Given the description of an element on the screen output the (x, y) to click on. 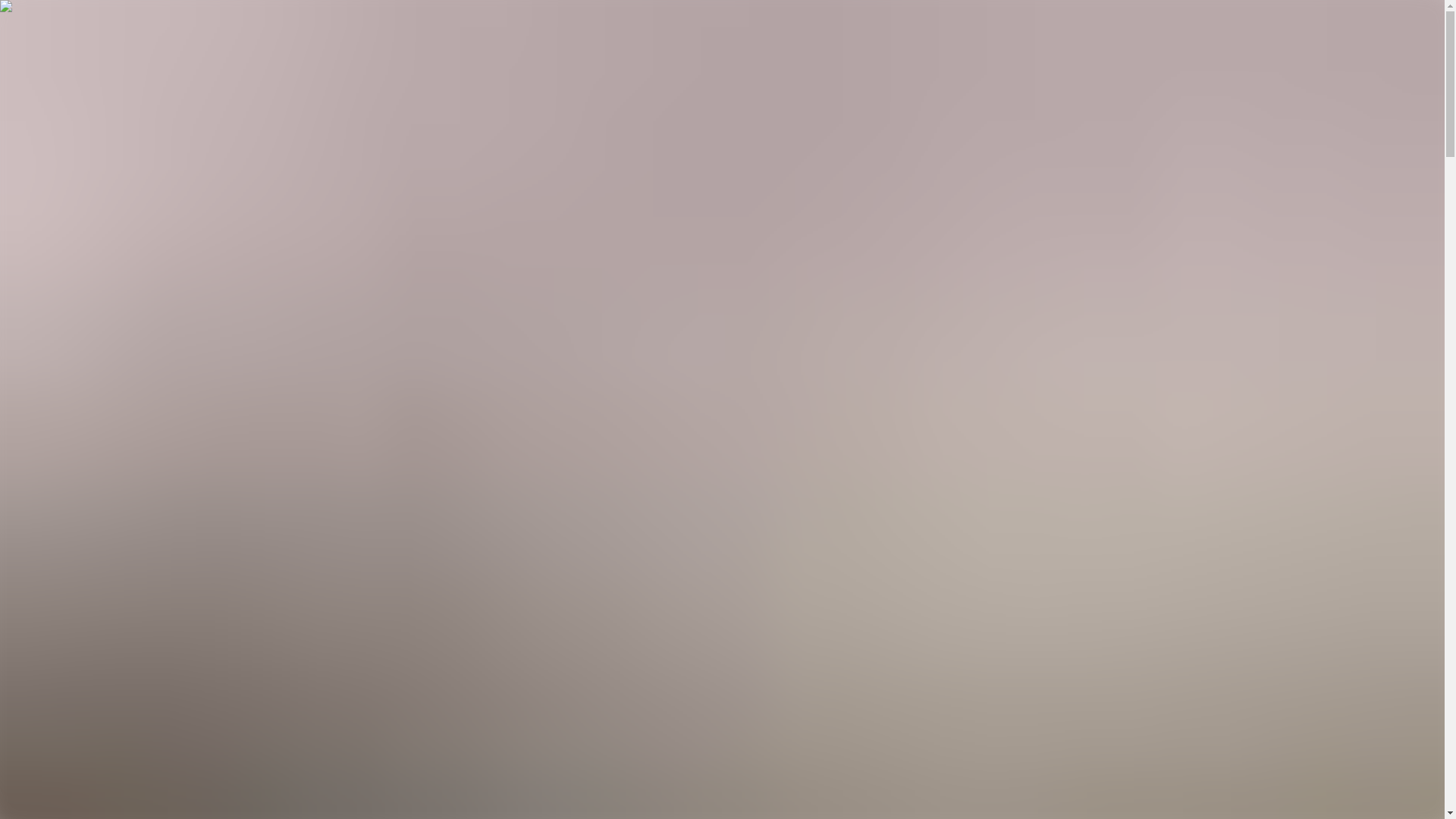
Report a repair (85, 277)
About (170, 808)
Register (25, 277)
Get a Valuation (43, 263)
0333 3447850 (50, 132)
Branches (146, 65)
Tenants (175, 617)
Landlords (179, 738)
